Given the description of an element on the screen output the (x, y) to click on. 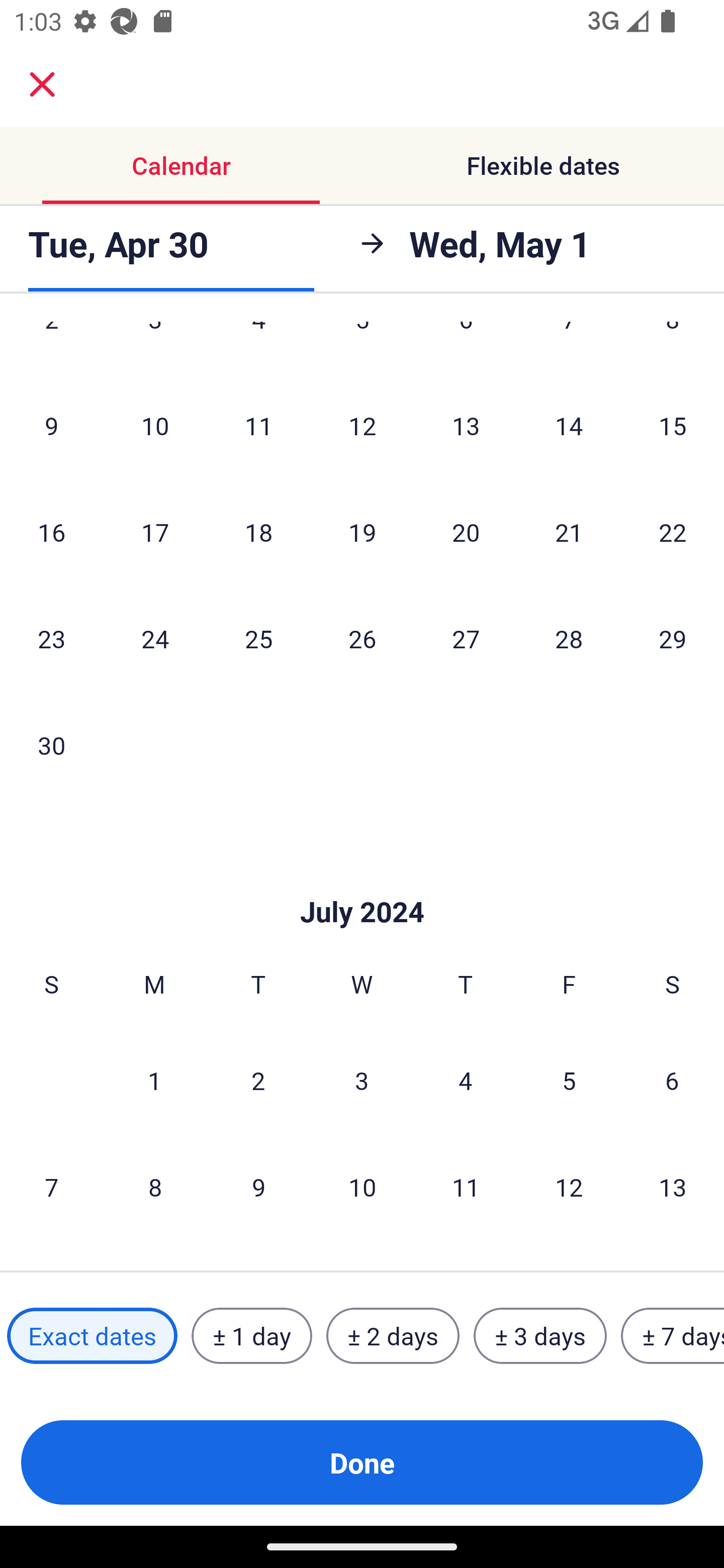
close. (42, 84)
Flexible dates (542, 164)
9 Sunday, June 9, 2024 (51, 424)
10 Monday, June 10, 2024 (155, 424)
11 Tuesday, June 11, 2024 (258, 424)
12 Wednesday, June 12, 2024 (362, 424)
13 Thursday, June 13, 2024 (465, 424)
14 Friday, June 14, 2024 (569, 424)
15 Saturday, June 15, 2024 (672, 424)
16 Sunday, June 16, 2024 (51, 531)
17 Monday, June 17, 2024 (155, 531)
18 Tuesday, June 18, 2024 (258, 531)
19 Wednesday, June 19, 2024 (362, 531)
20 Thursday, June 20, 2024 (465, 531)
21 Friday, June 21, 2024 (569, 531)
22 Saturday, June 22, 2024 (672, 531)
23 Sunday, June 23, 2024 (51, 637)
24 Monday, June 24, 2024 (155, 637)
25 Tuesday, June 25, 2024 (258, 637)
26 Wednesday, June 26, 2024 (362, 637)
27 Thursday, June 27, 2024 (465, 637)
28 Friday, June 28, 2024 (569, 637)
29 Saturday, June 29, 2024 (672, 637)
30 Sunday, June 30, 2024 (51, 744)
Skip to Done (362, 881)
1 Monday, July 1, 2024 (154, 1080)
2 Tuesday, July 2, 2024 (257, 1080)
3 Wednesday, July 3, 2024 (361, 1080)
4 Thursday, July 4, 2024 (465, 1080)
5 Friday, July 5, 2024 (568, 1080)
6 Saturday, July 6, 2024 (672, 1080)
7 Sunday, July 7, 2024 (51, 1186)
8 Monday, July 8, 2024 (155, 1186)
9 Tuesday, July 9, 2024 (258, 1186)
10 Wednesday, July 10, 2024 (362, 1186)
11 Thursday, July 11, 2024 (465, 1186)
12 Friday, July 12, 2024 (569, 1186)
13 Saturday, July 13, 2024 (672, 1186)
Exact dates (92, 1335)
± 1 day (251, 1335)
± 2 days (392, 1335)
± 3 days (539, 1335)
± 7 days (672, 1335)
Done (361, 1462)
